Given the description of an element on the screen output the (x, y) to click on. 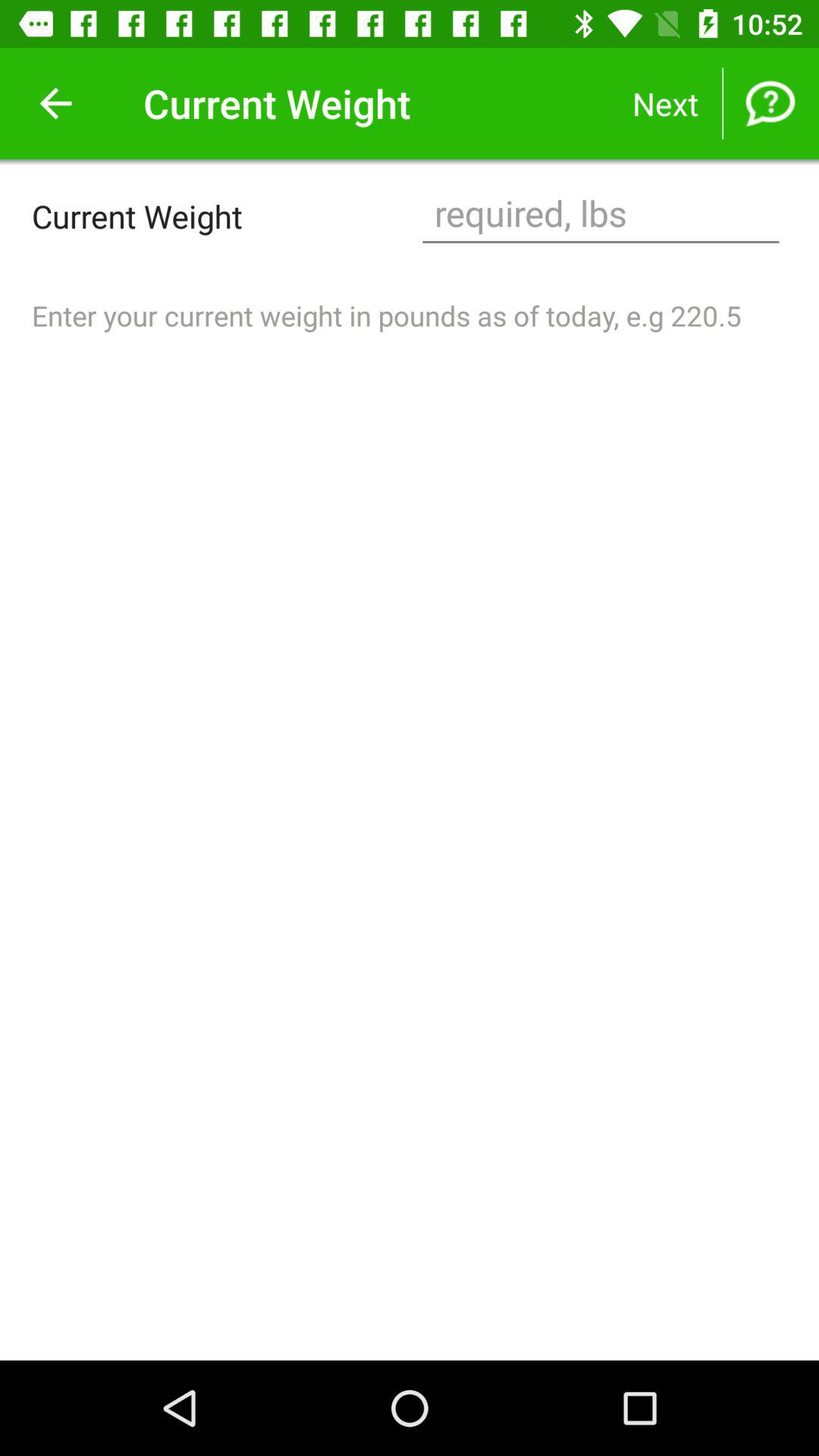
enter text (600, 215)
